Given the description of an element on the screen output the (x, y) to click on. 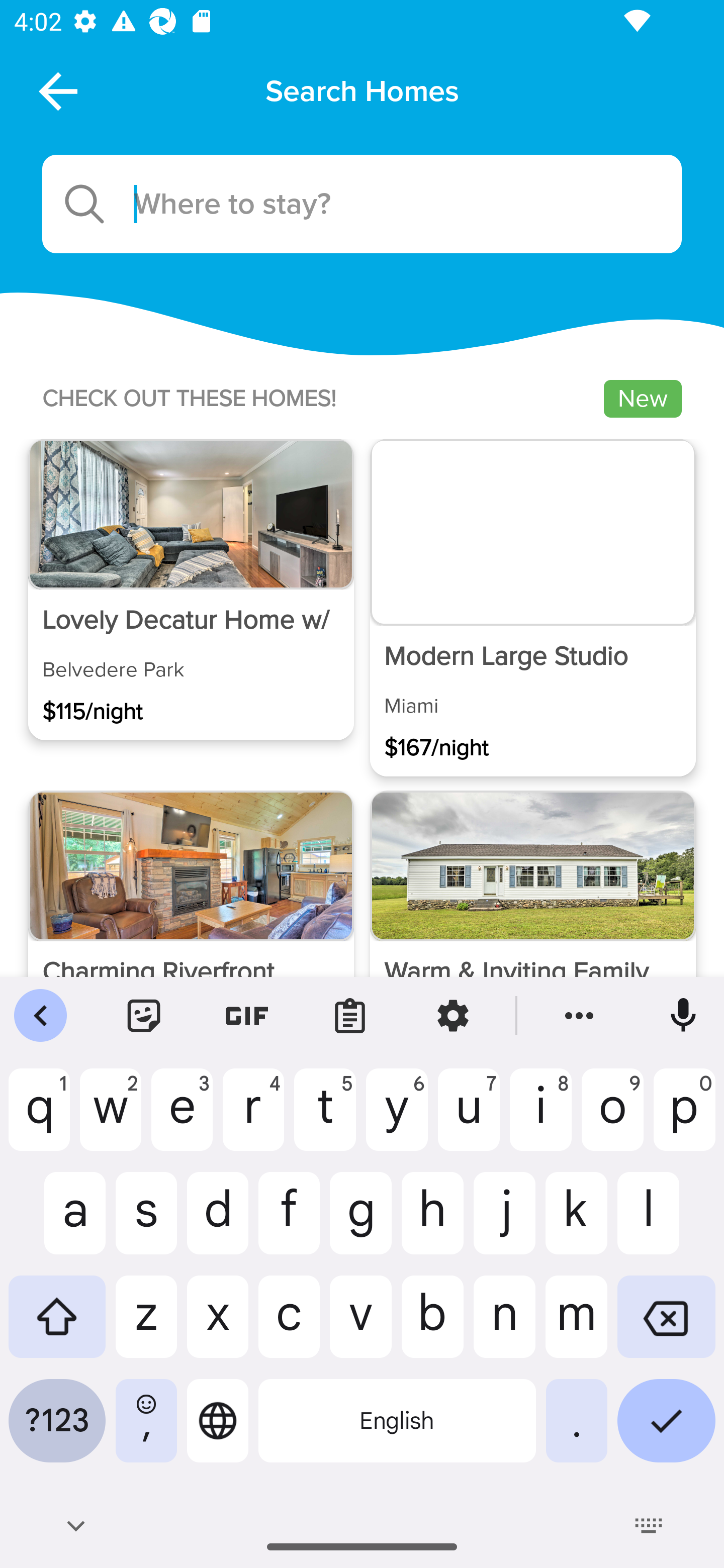
Icon close screen (55, 90)
Search icon Where to stay? (361, 204)
